Given the description of an element on the screen output the (x, y) to click on. 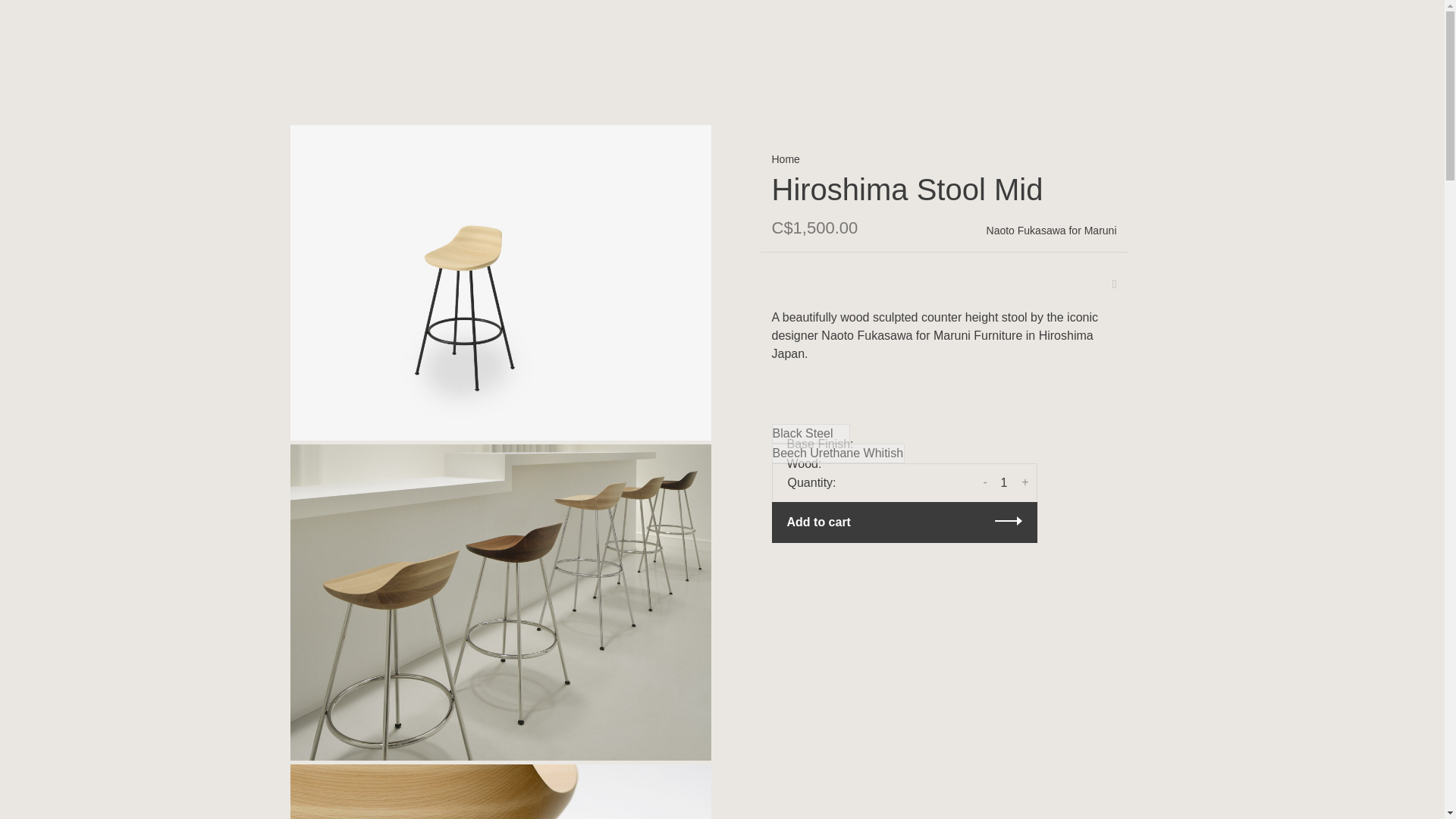
1 (1003, 482)
